Given the description of an element on the screen output the (x, y) to click on. 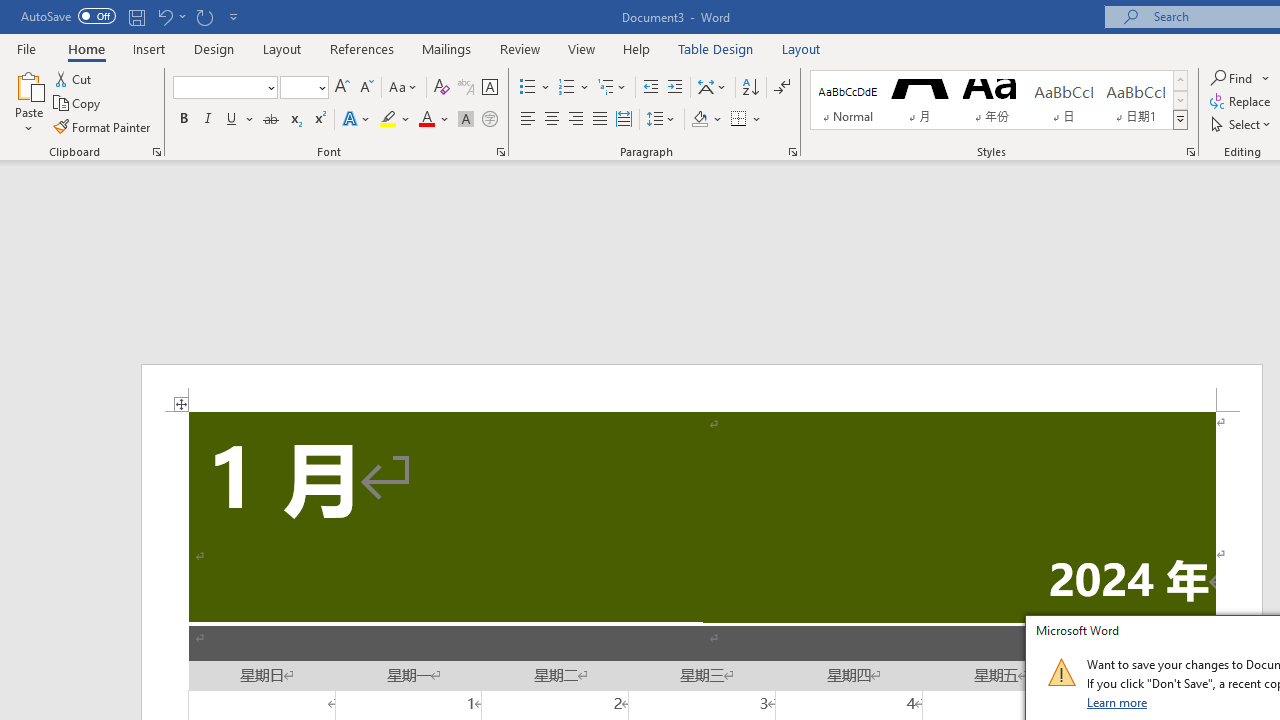
Font Color RGB(255, 0, 0) (426, 119)
Undo Apply Quick Style (164, 15)
